Given the description of an element on the screen output the (x, y) to click on. 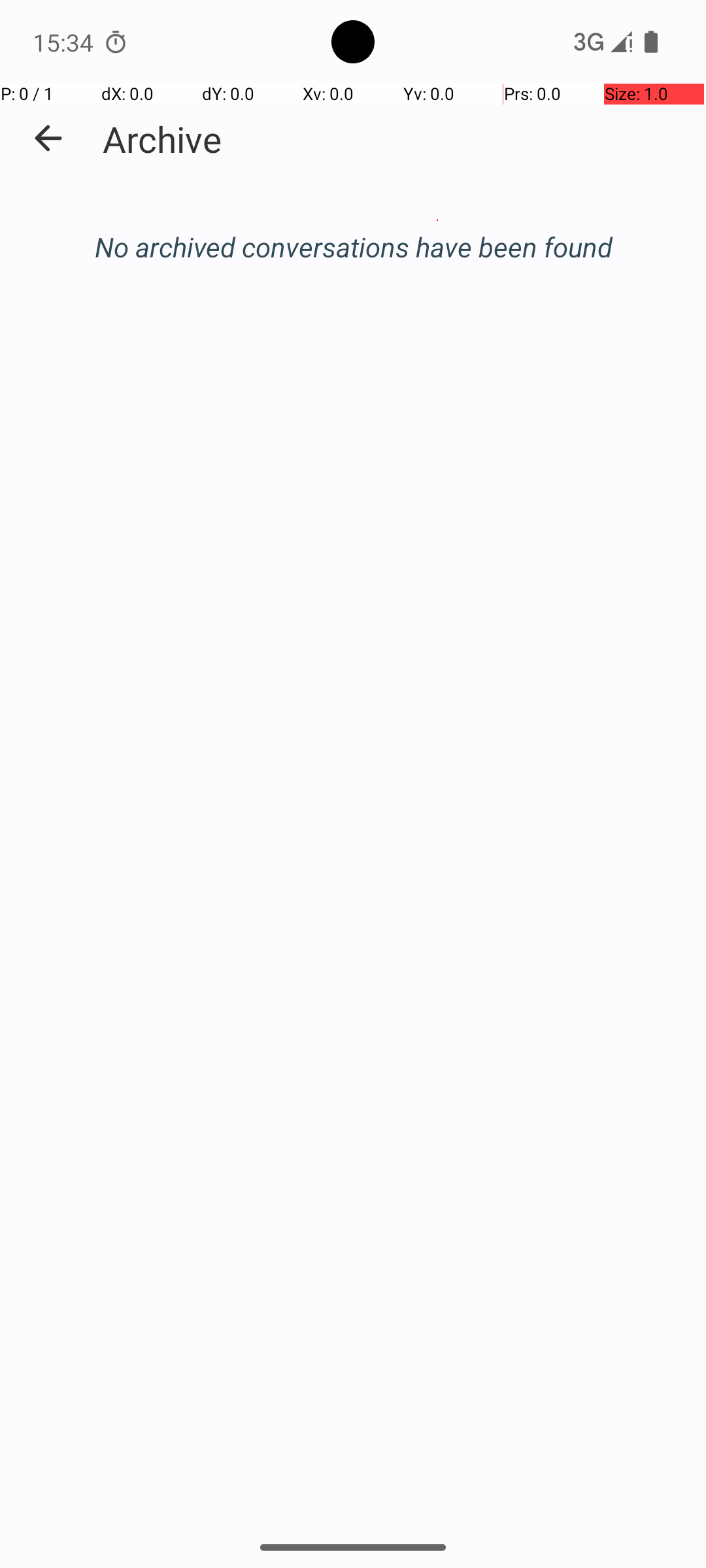
No archived conversations have been found Element type: android.widget.TextView (353, 246)
